Given the description of an element on the screen output the (x, y) to click on. 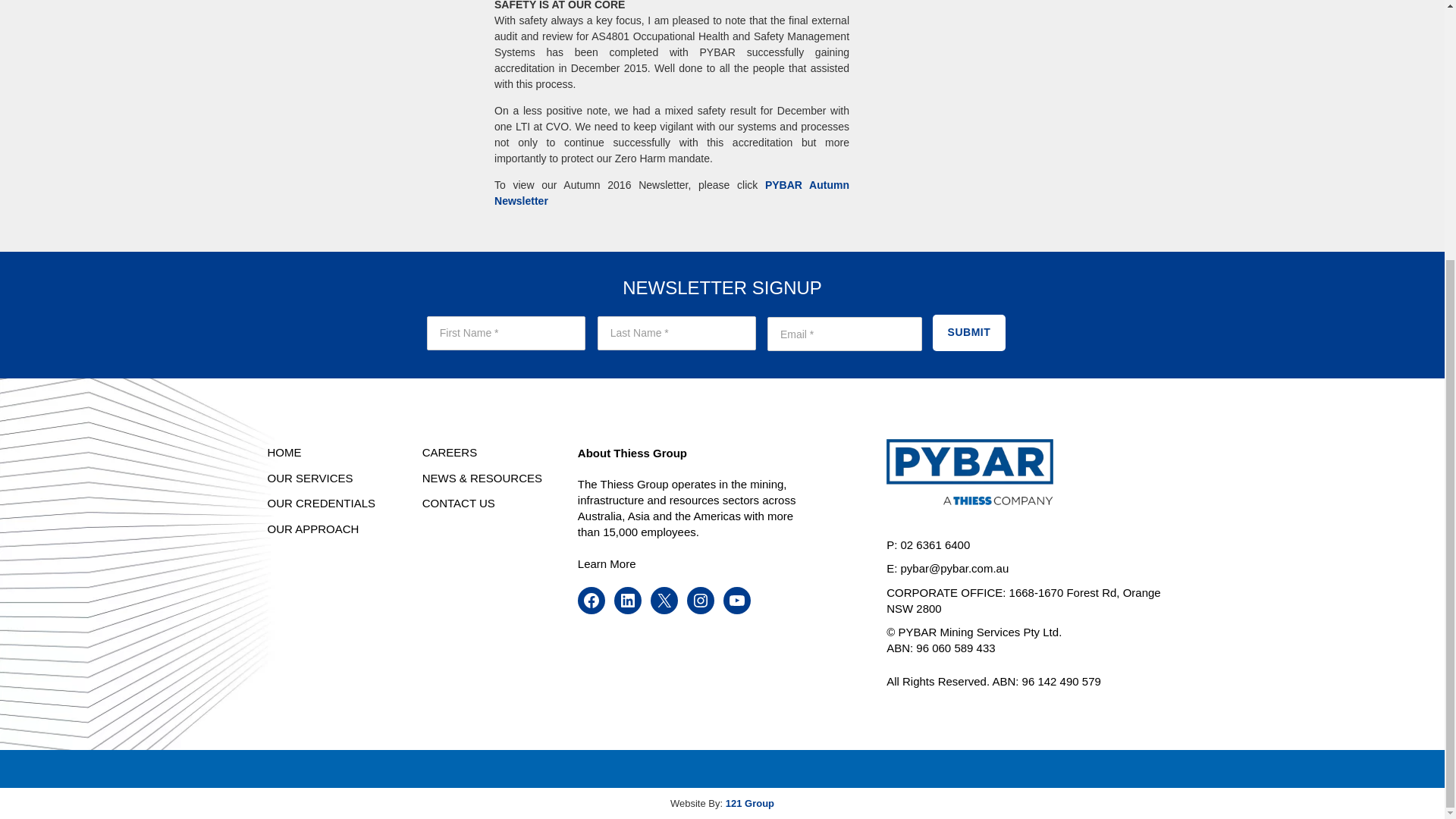
Submit (969, 332)
